Given the description of an element on the screen output the (x, y) to click on. 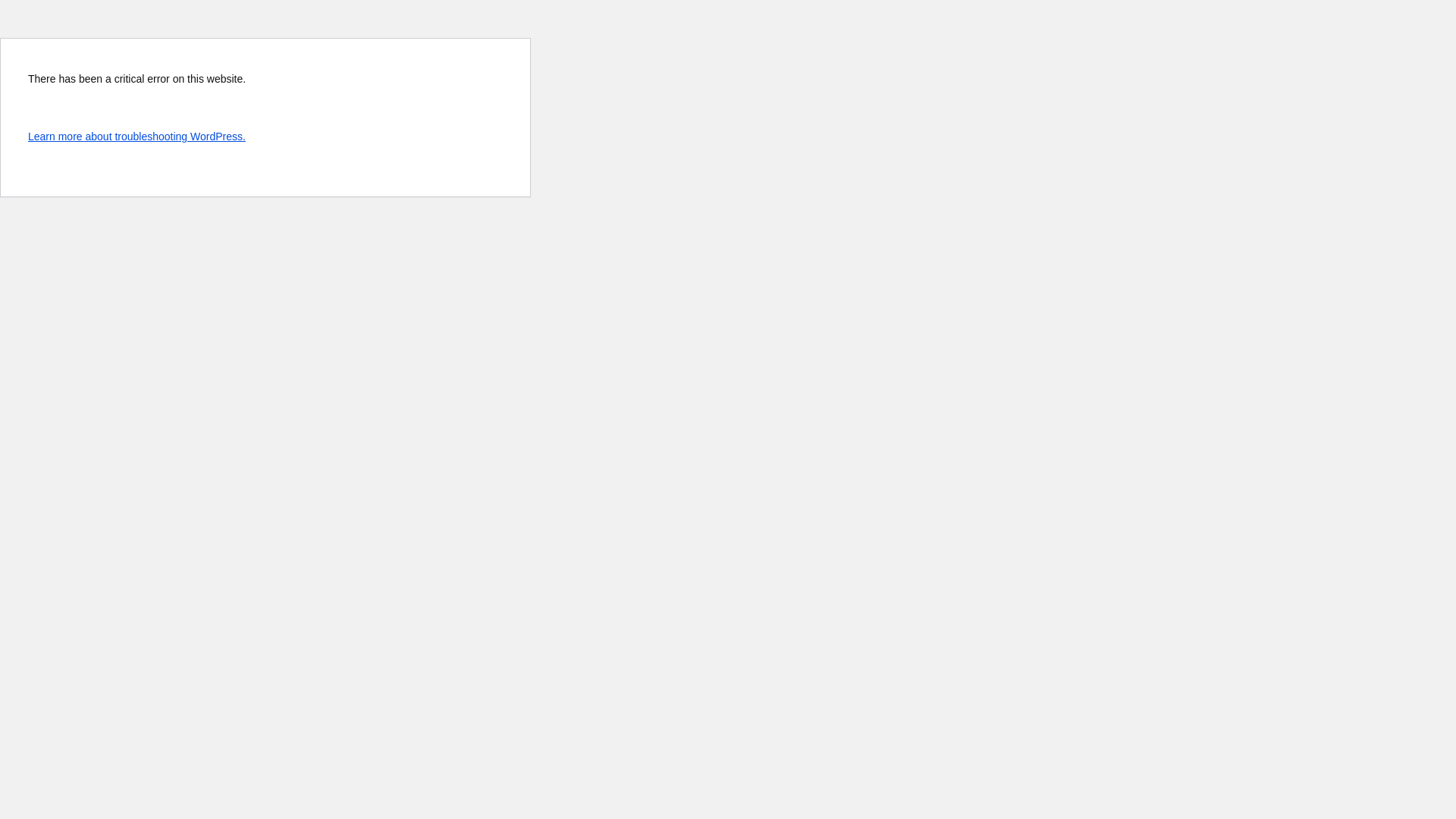
Learn more about troubleshooting WordPress. (136, 136)
